Given the description of an element on the screen output the (x, y) to click on. 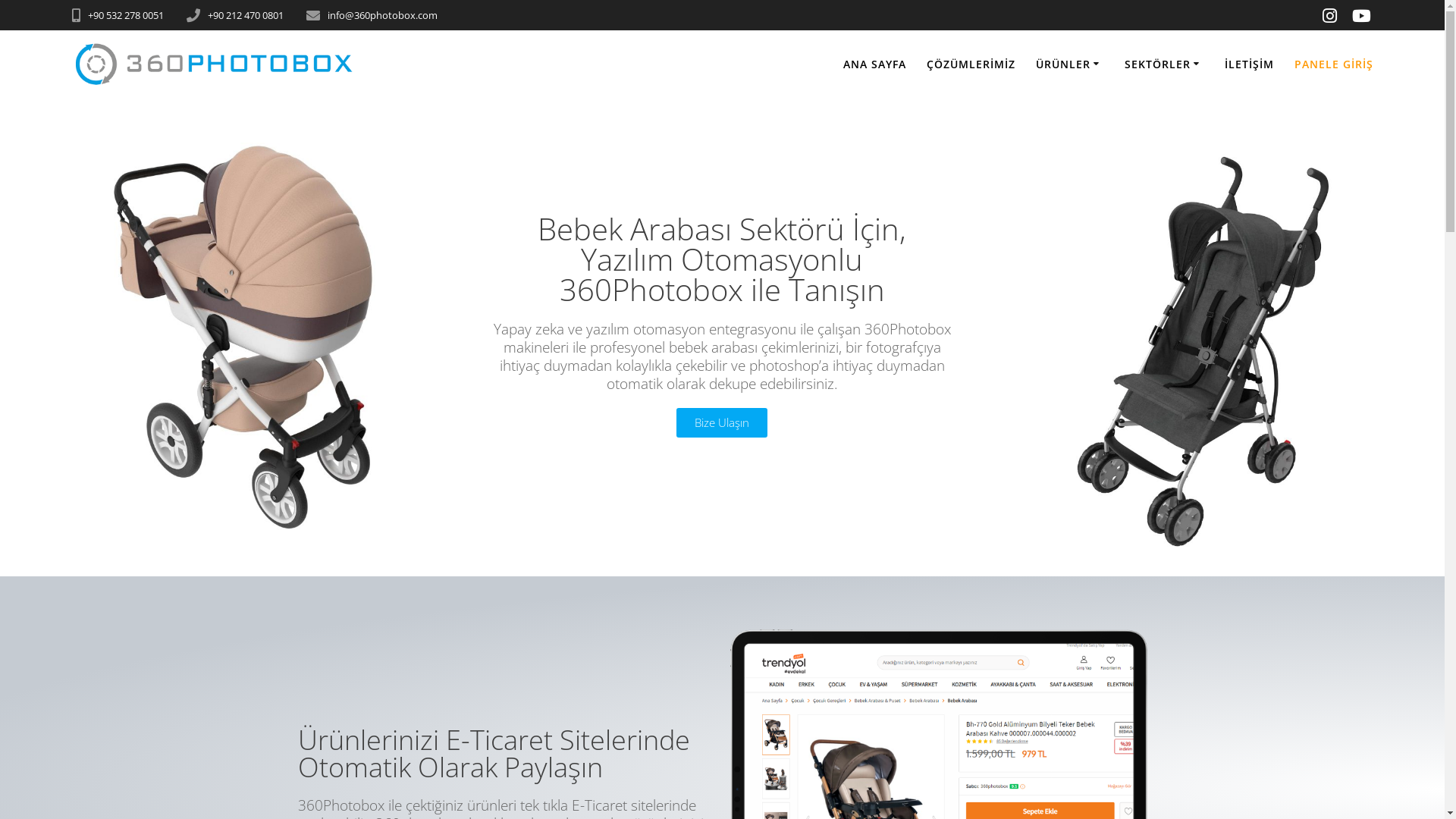
ANA SAYFA Element type: text (874, 64)
